Given the description of an element on the screen output the (x, y) to click on. 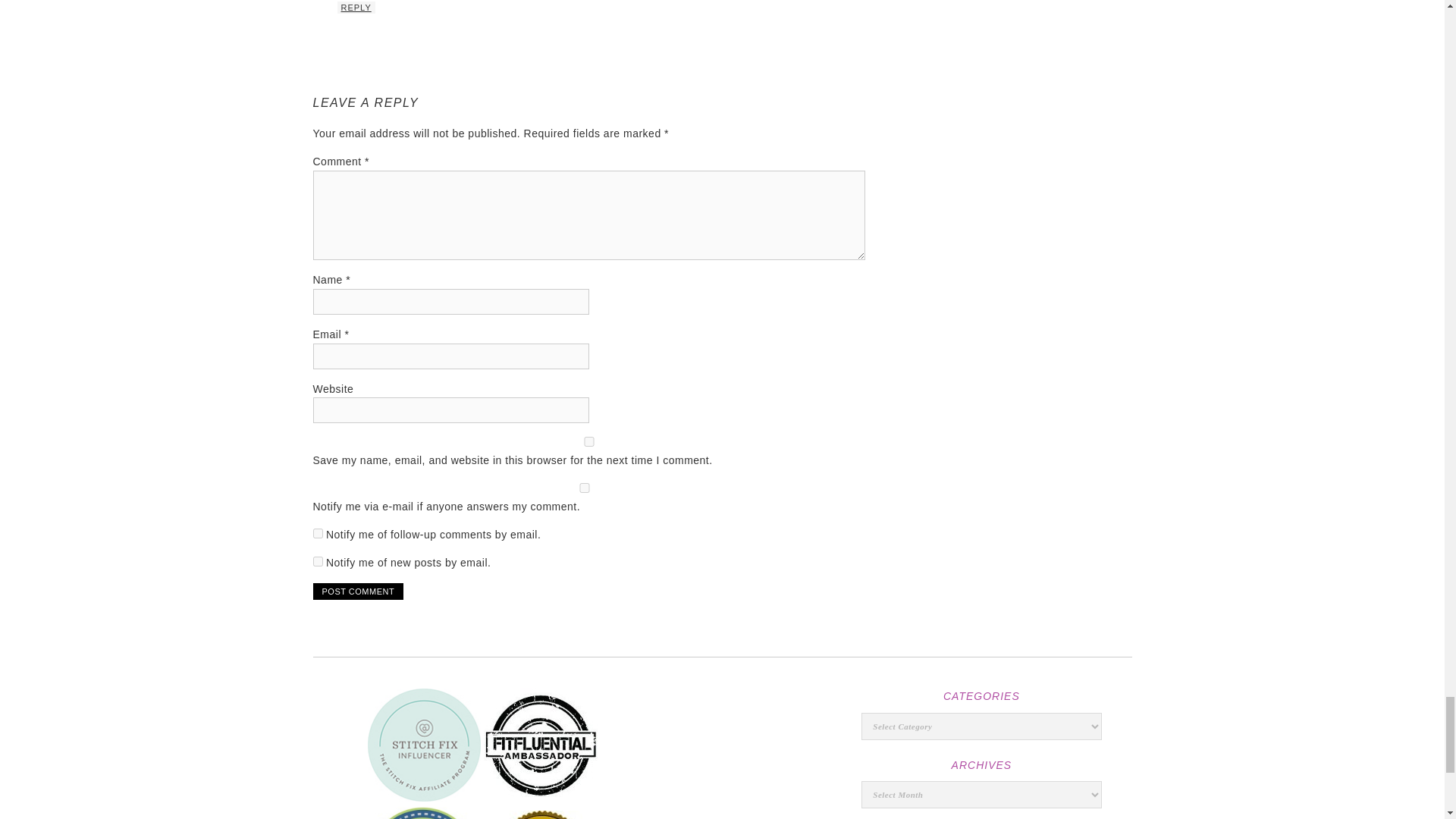
Post Comment (358, 591)
subscribe (317, 561)
on (584, 488)
subscribe (317, 533)
yes (588, 441)
